Given the description of an element on the screen output the (x, y) to click on. 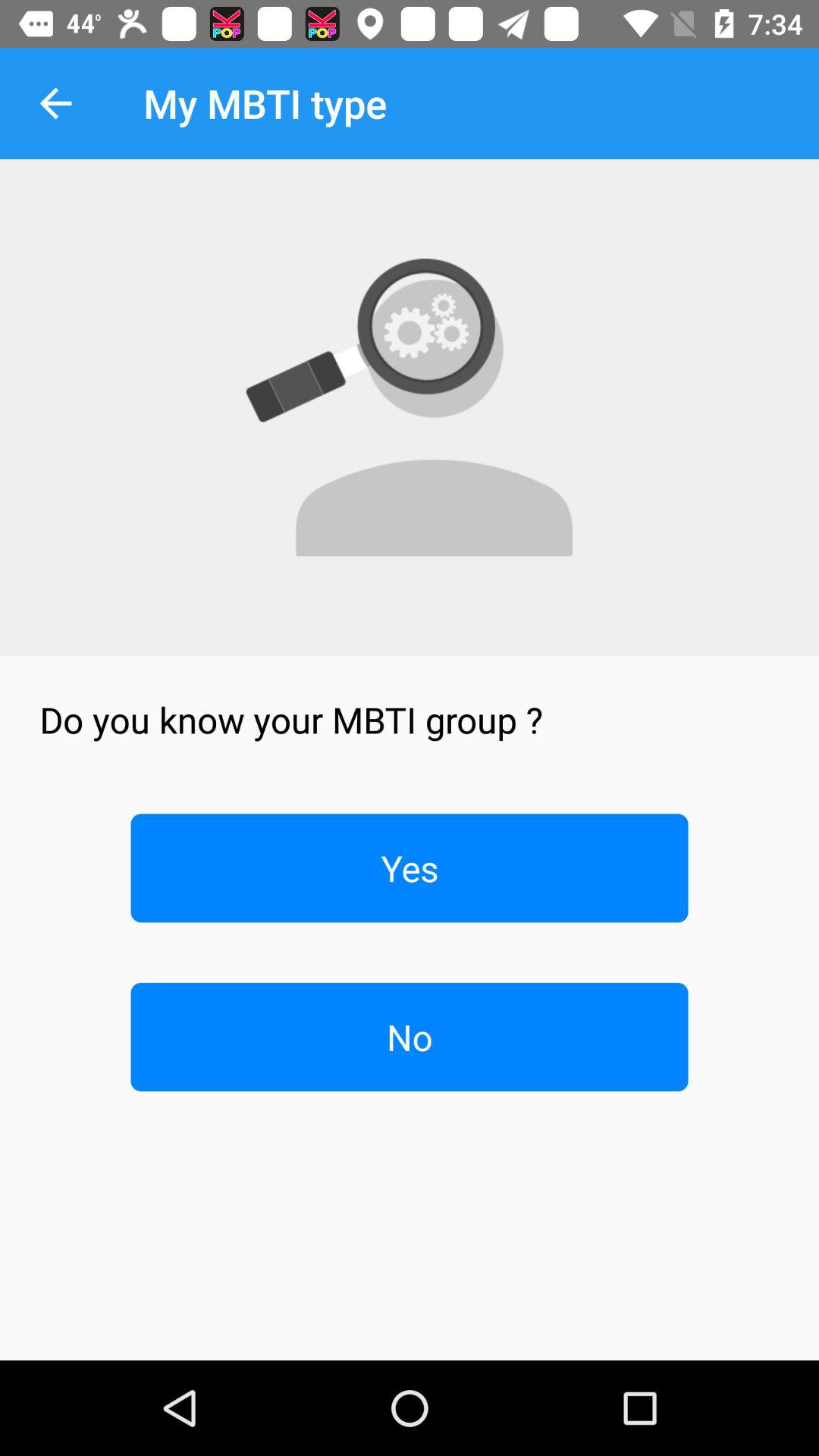
launch icon above the no icon (409, 867)
